Given the description of an element on the screen output the (x, y) to click on. 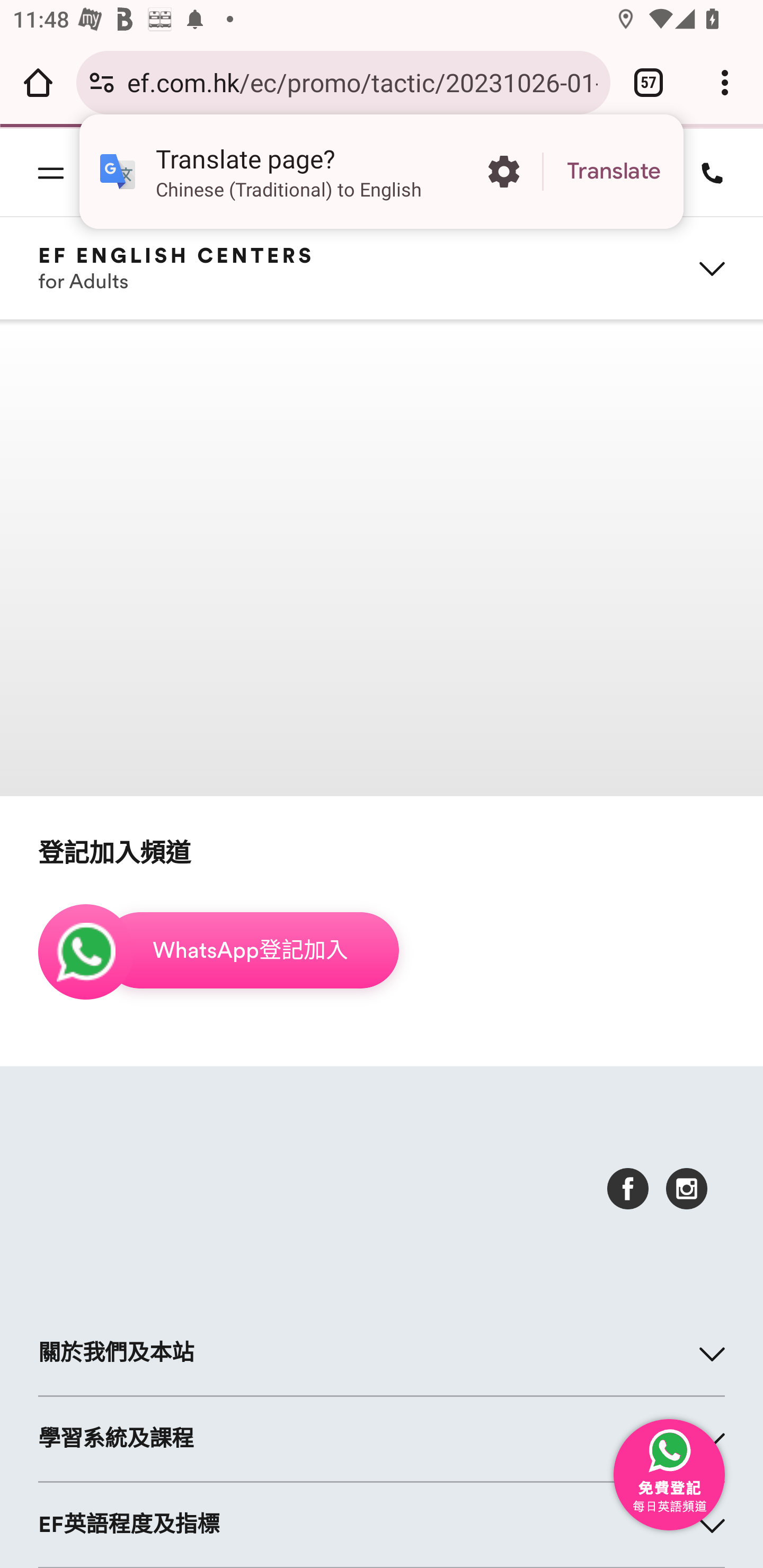
Open the home page (38, 82)
Connection is secure (101, 82)
Switch or close tabs (648, 82)
Customize and control Google Chrome (724, 82)
Translate (613, 171)
More options in the Translate page? (503, 171)
tel:+85231133583 (705, 171)
Facebook (627, 1188)
Instagram (686, 1188)
